Given the description of an element on the screen output the (x, y) to click on. 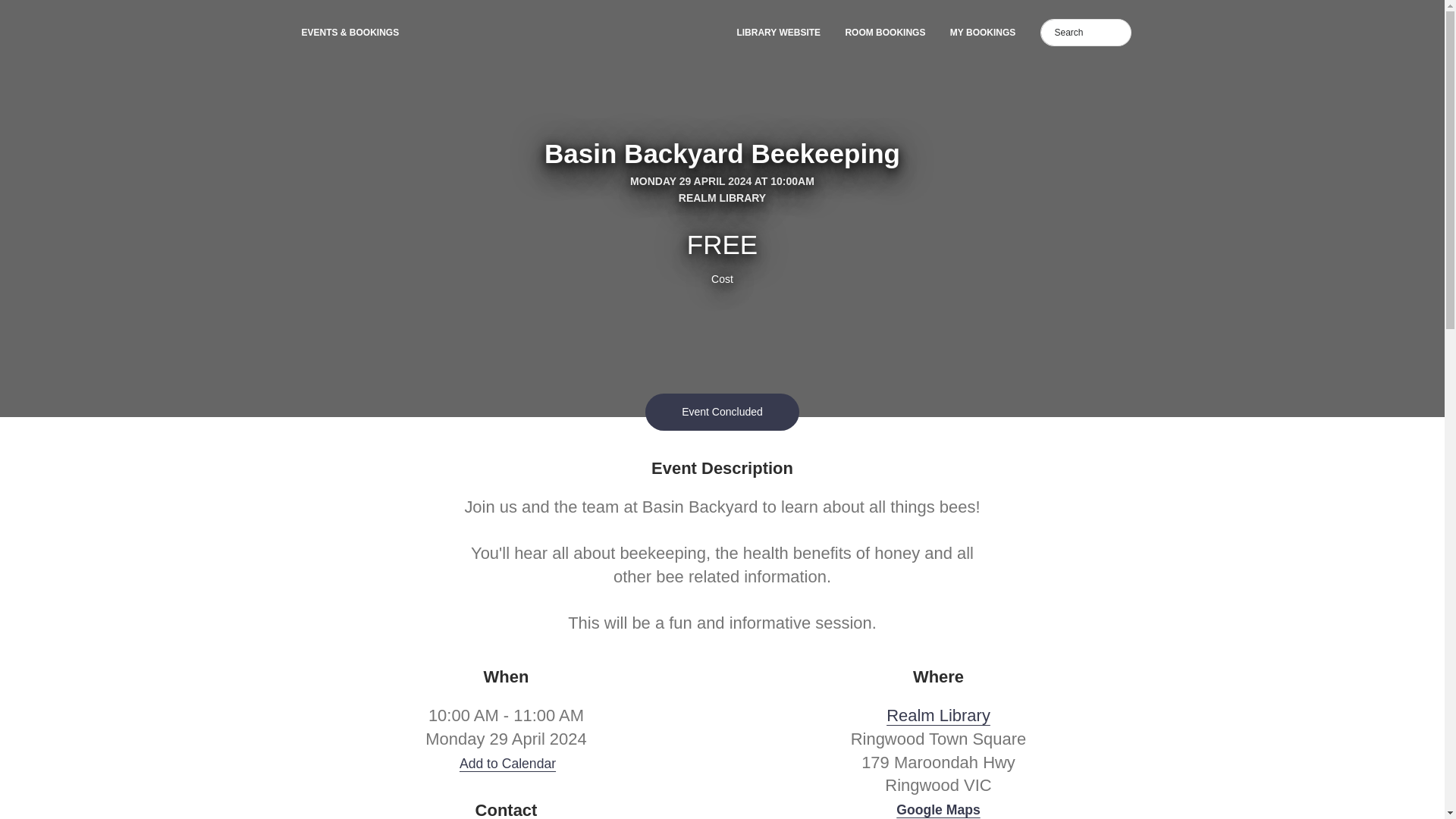
Google Maps (937, 809)
Add to Calendar (506, 763)
MY BOOKINGS (981, 32)
ROOM BOOKINGS (882, 32)
Realm Library (938, 714)
Submit (22, 10)
LIBRARY WEBSITE (775, 32)
